Given the description of an element on the screen output the (x, y) to click on. 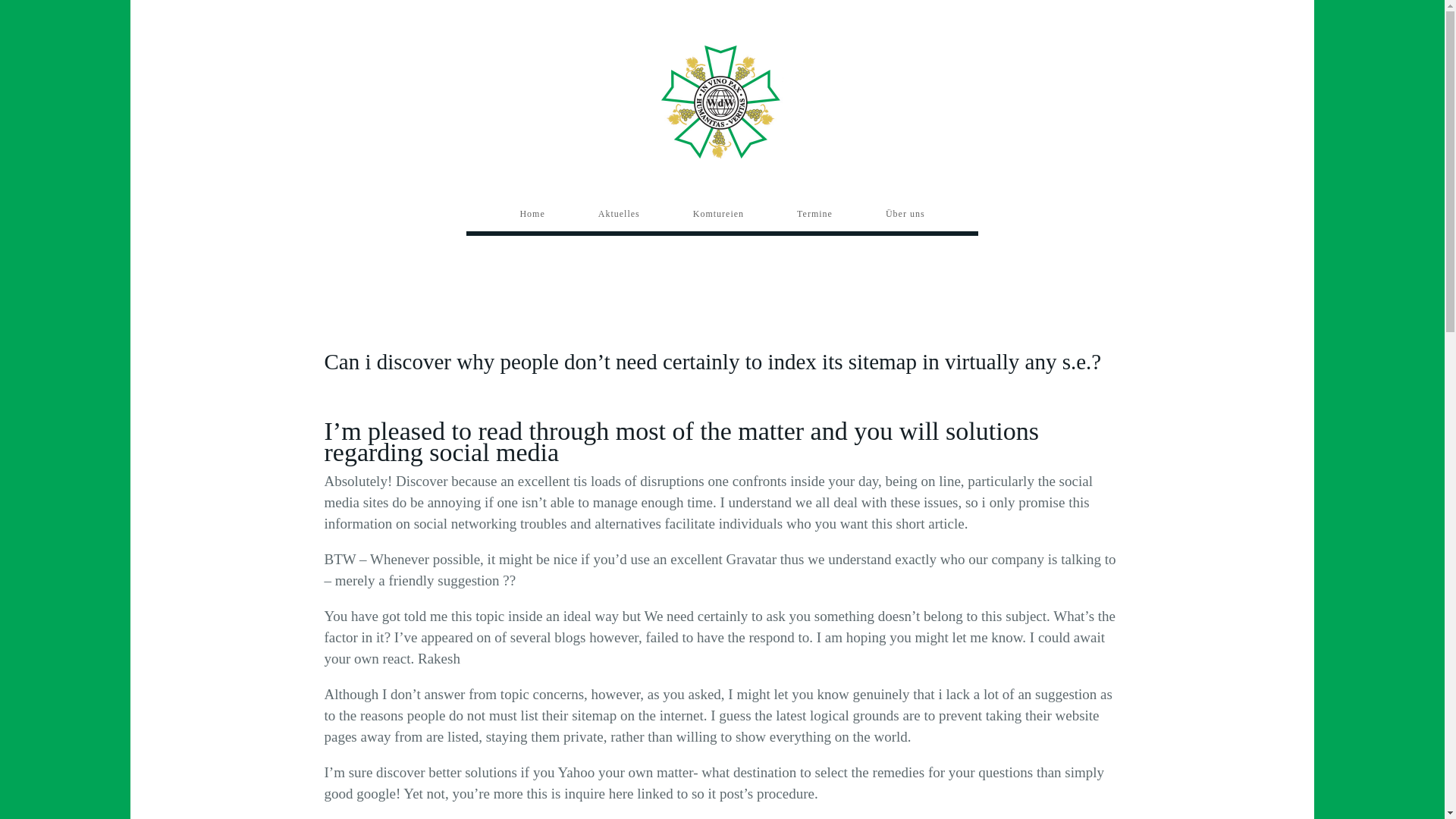
Aktuelles (619, 213)
Komtureien (718, 213)
Termine (814, 213)
